Given the description of an element on the screen output the (x, y) to click on. 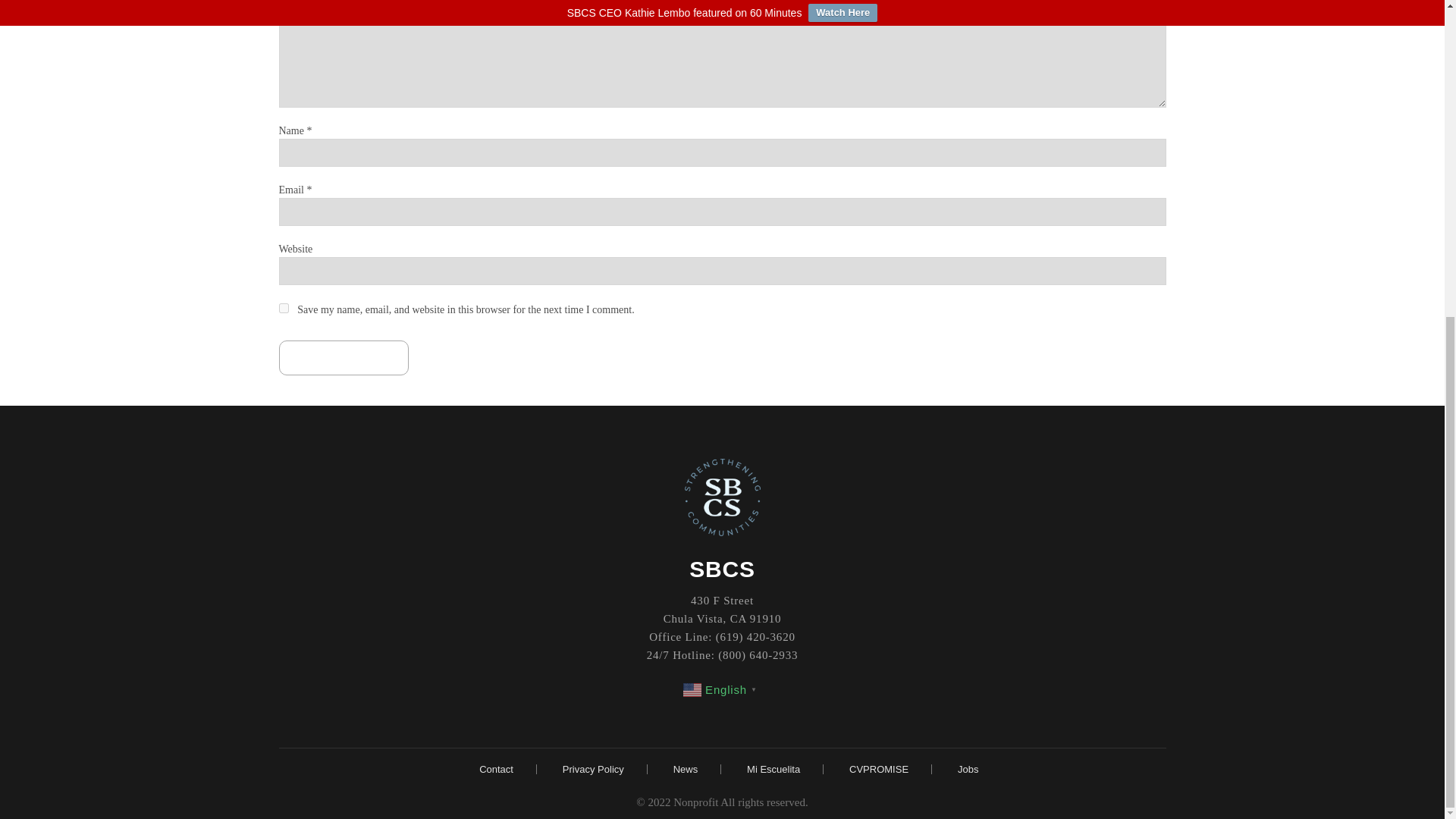
yes (283, 307)
Post Comment (344, 357)
